Given the description of an element on the screen output the (x, y) to click on. 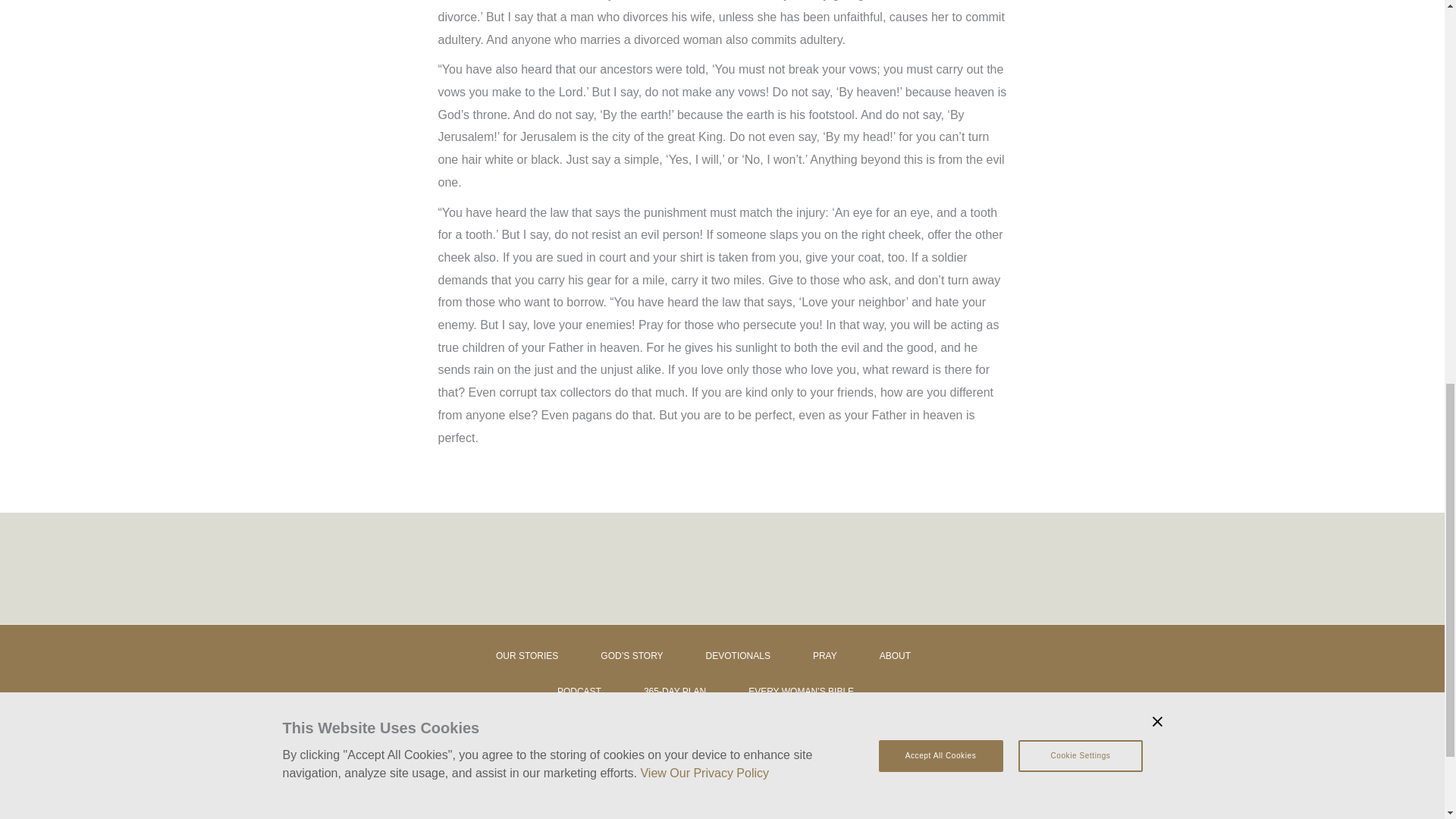
PRAY (841, 661)
DEVOTIONALS (754, 661)
OUR STORIES (545, 661)
